Given the description of an element on the screen output the (x, y) to click on. 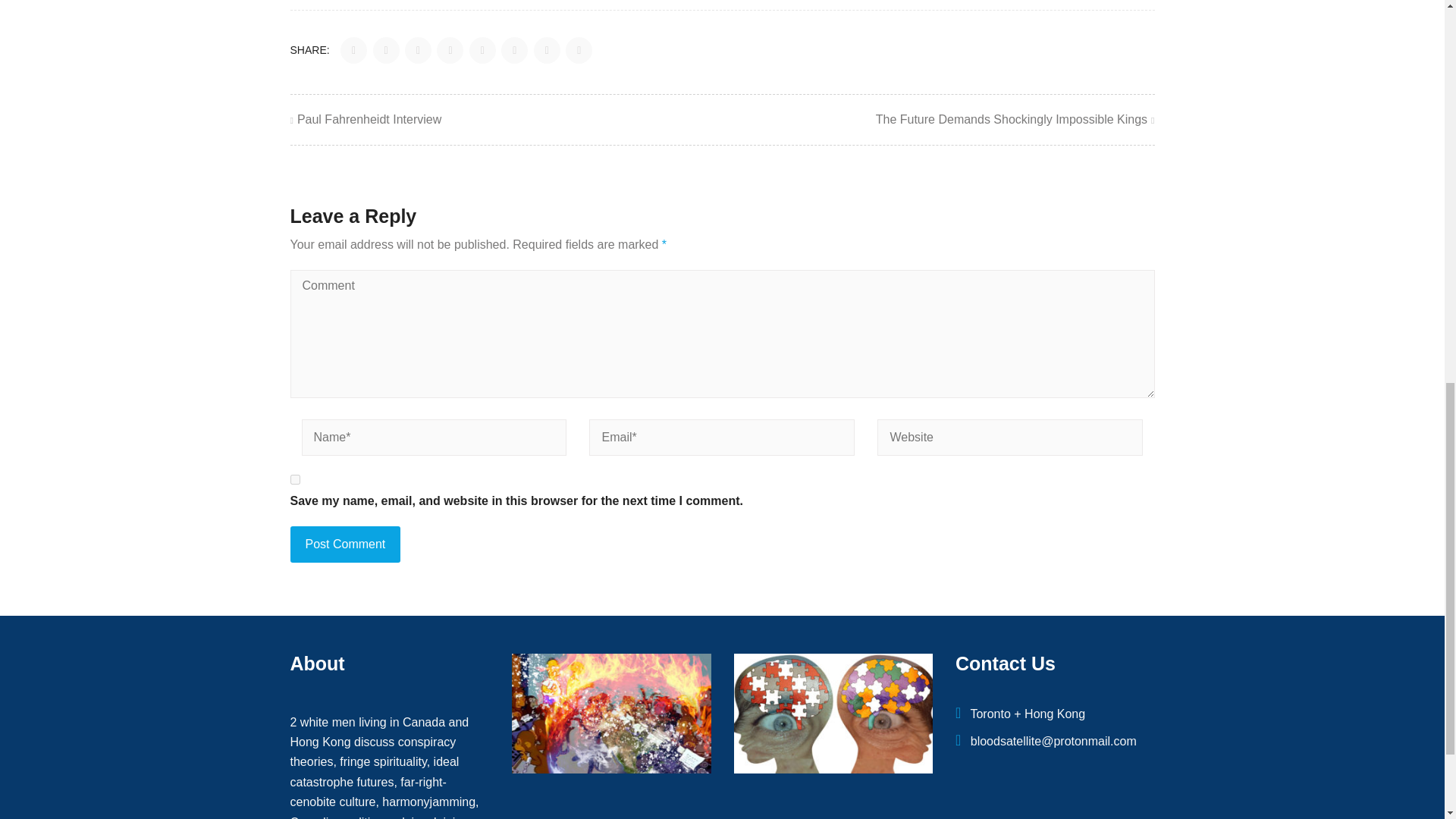
Share on Facebook (353, 49)
yes (294, 479)
Post Comment (344, 544)
Share on Linkedin (450, 49)
Share on Pinterest (482, 49)
Share on Twitter (386, 49)
